Given the description of an element on the screen output the (x, y) to click on. 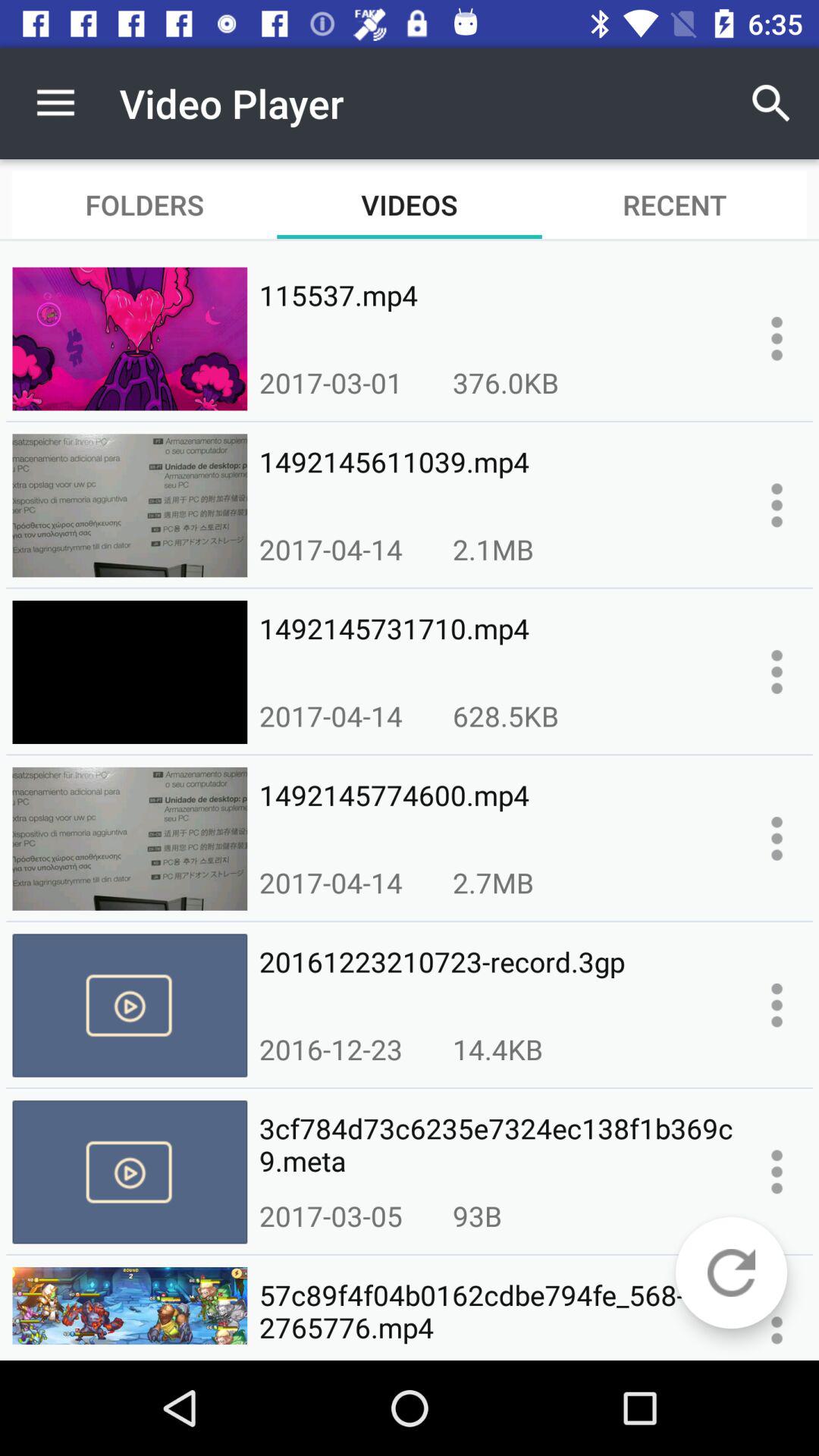
scroll until 628.5kb item (505, 715)
